Given the description of an element on the screen output the (x, y) to click on. 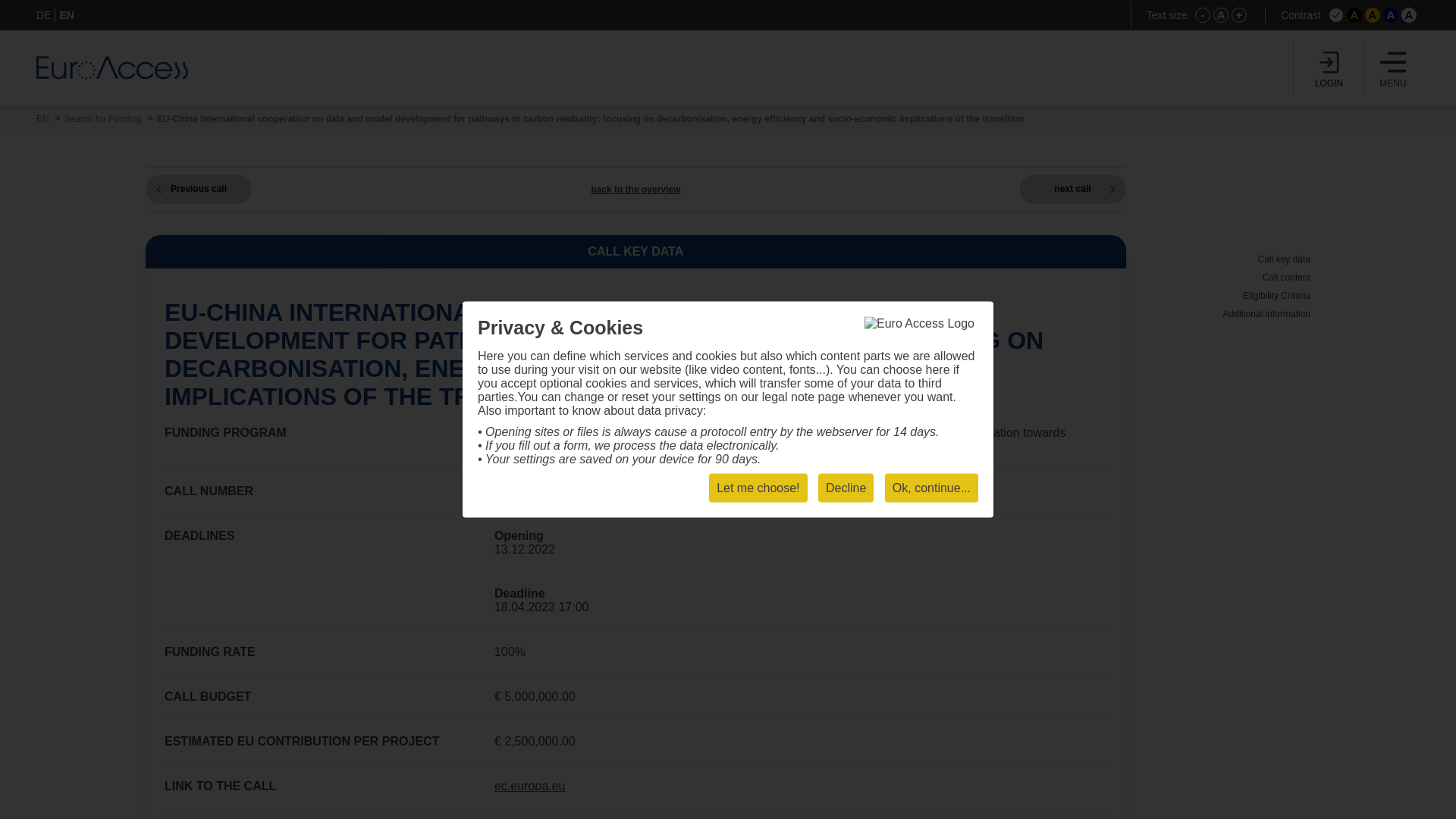
White on blue (1390, 14)
MENU (1393, 68)
- (1202, 14)
A (1372, 14)
DE (43, 15)
EN (42, 118)
Search for Funding (102, 118)
A (1408, 14)
Yellow on black (1353, 14)
A (1220, 14)
Black on yellow (1372, 14)
Zur Startseite (111, 67)
EN (66, 15)
A (1353, 14)
EN (42, 118)
